Given the description of an element on the screen output the (x, y) to click on. 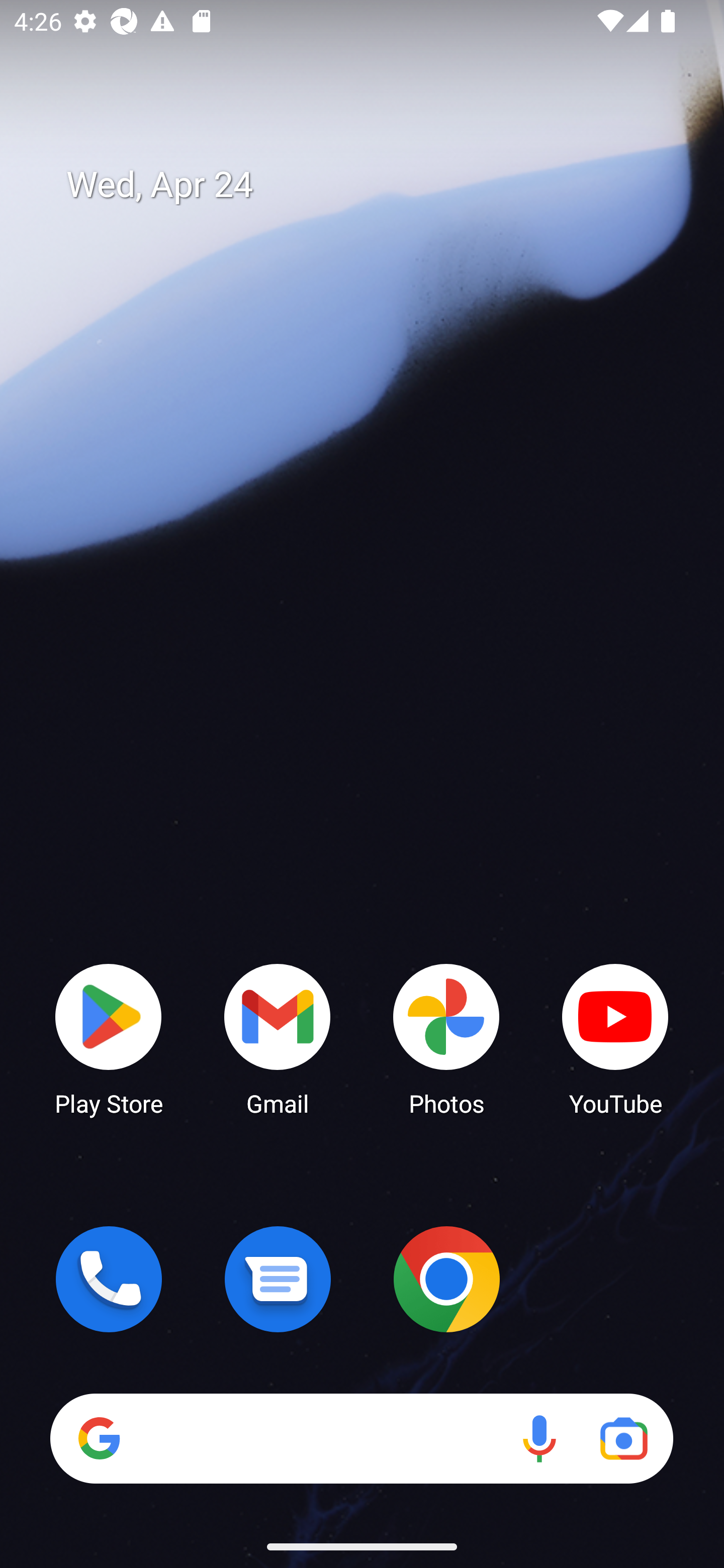
Wed, Apr 24 (375, 184)
Play Store (108, 1038)
Gmail (277, 1038)
Photos (445, 1038)
YouTube (615, 1038)
Phone (108, 1279)
Messages (277, 1279)
Chrome (446, 1279)
Search Voice search Google Lens (361, 1438)
Voice search (539, 1438)
Google Lens (623, 1438)
